Given the description of an element on the screen output the (x, y) to click on. 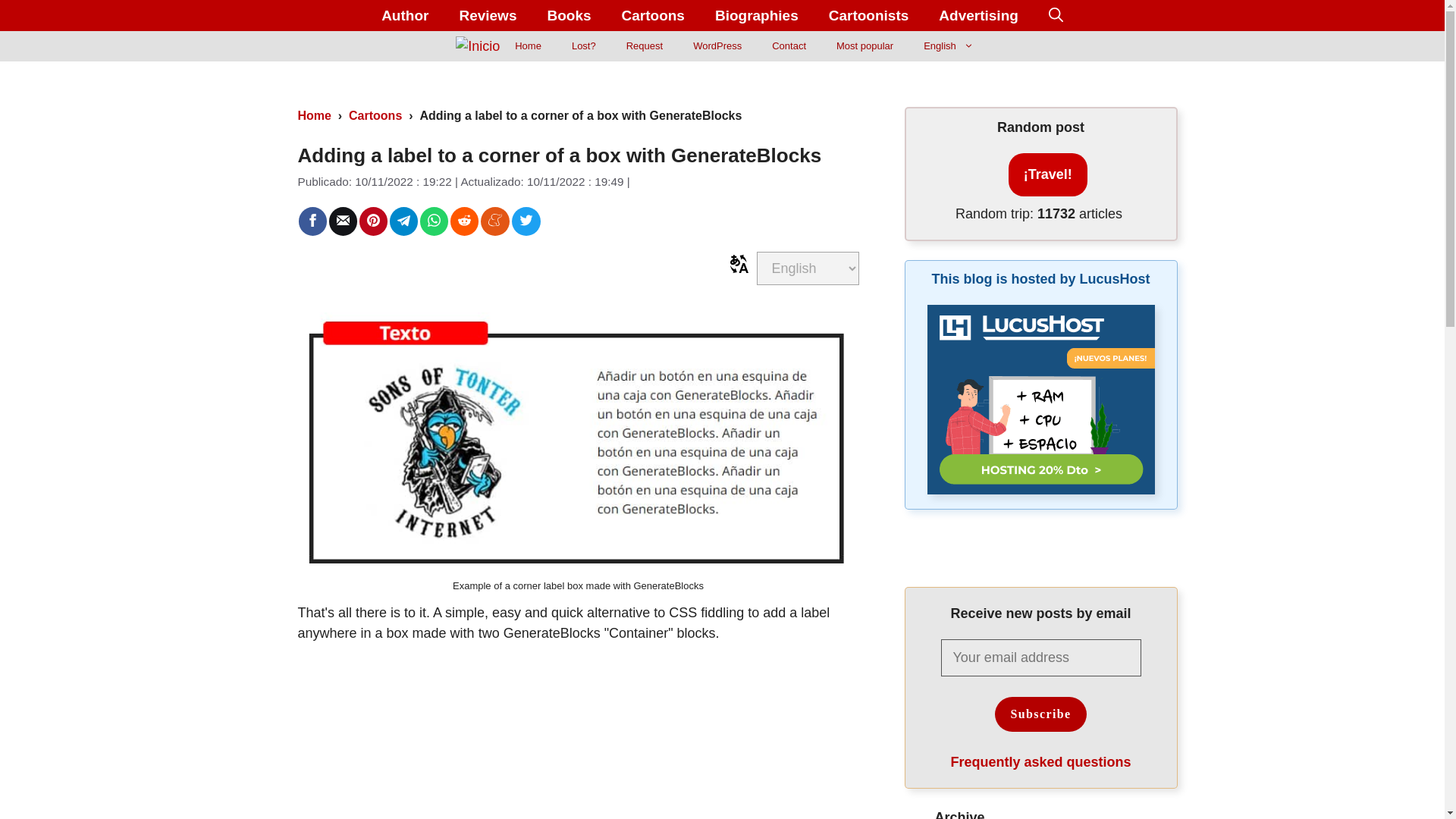
Author (405, 15)
Are you lost? (583, 46)
logo-menu-new (477, 46)
Request (644, 46)
Most popular posts (864, 46)
Biographies (756, 15)
Do you want to order something? (644, 46)
WordPress (717, 46)
Cartoons (653, 15)
Do you want me to try and review your product? (487, 15)
Most popular (864, 46)
Biographies (756, 15)
Telegram (403, 219)
Paper and digital cartoon books (568, 15)
Reviews (487, 15)
